Given the description of an element on the screen output the (x, y) to click on. 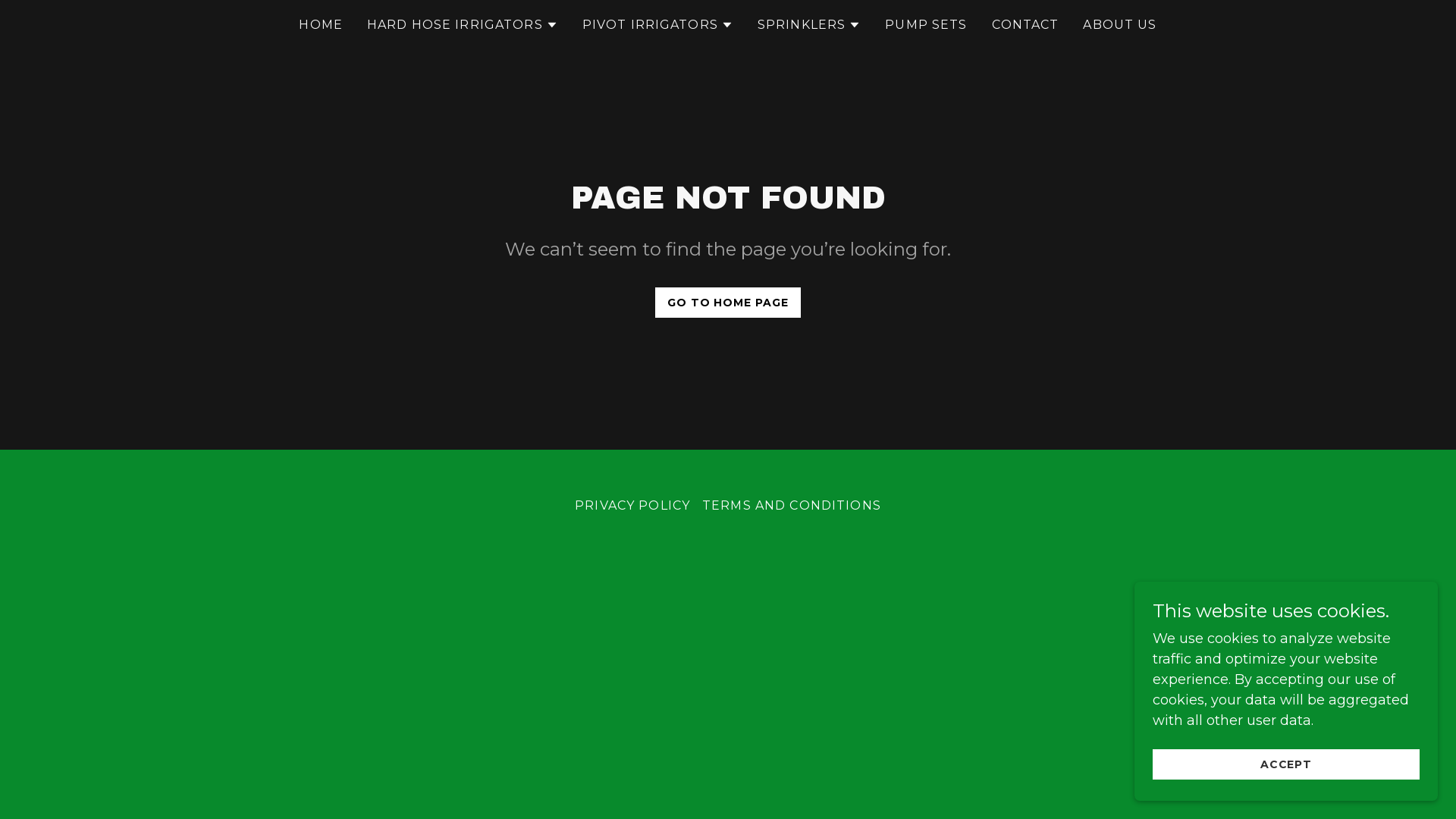
GO TO HOME PAGE Element type: text (728, 302)
ABOUT US Element type: text (1119, 24)
HARD HOSE IRRIGATORS Element type: text (462, 24)
CONTACT Element type: text (1025, 24)
PRIVACY POLICY Element type: text (632, 505)
HOME Element type: text (320, 24)
TERMS AND CONDITIONS Element type: text (791, 505)
PUMP SETS Element type: text (925, 24)
ACCEPT Element type: text (1285, 764)
SPRINKLERS Element type: text (808, 24)
PIVOT IRRIGATORS Element type: text (657, 24)
